Given the description of an element on the screen output the (x, y) to click on. 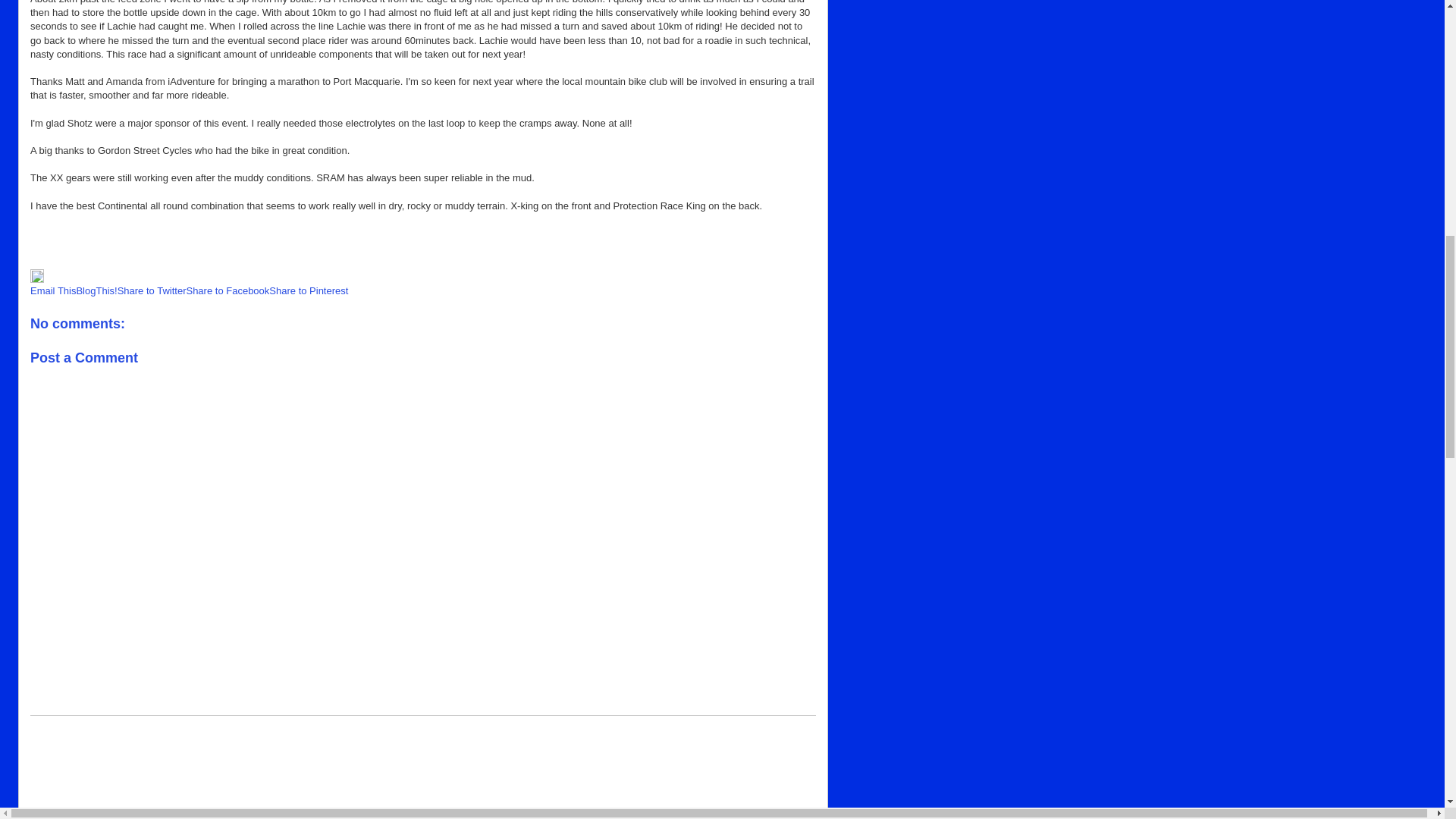
BlogThis! (95, 290)
Share to Pinterest (308, 290)
Share to Facebook (227, 290)
Email This (52, 290)
Share to Facebook (227, 290)
BlogThis! (95, 290)
Advertisement (422, 773)
Share to Twitter (151, 290)
Share to Pinterest (308, 290)
Share to Twitter (151, 290)
Edit Post (36, 279)
Email This (52, 290)
